Given the description of an element on the screen output the (x, y) to click on. 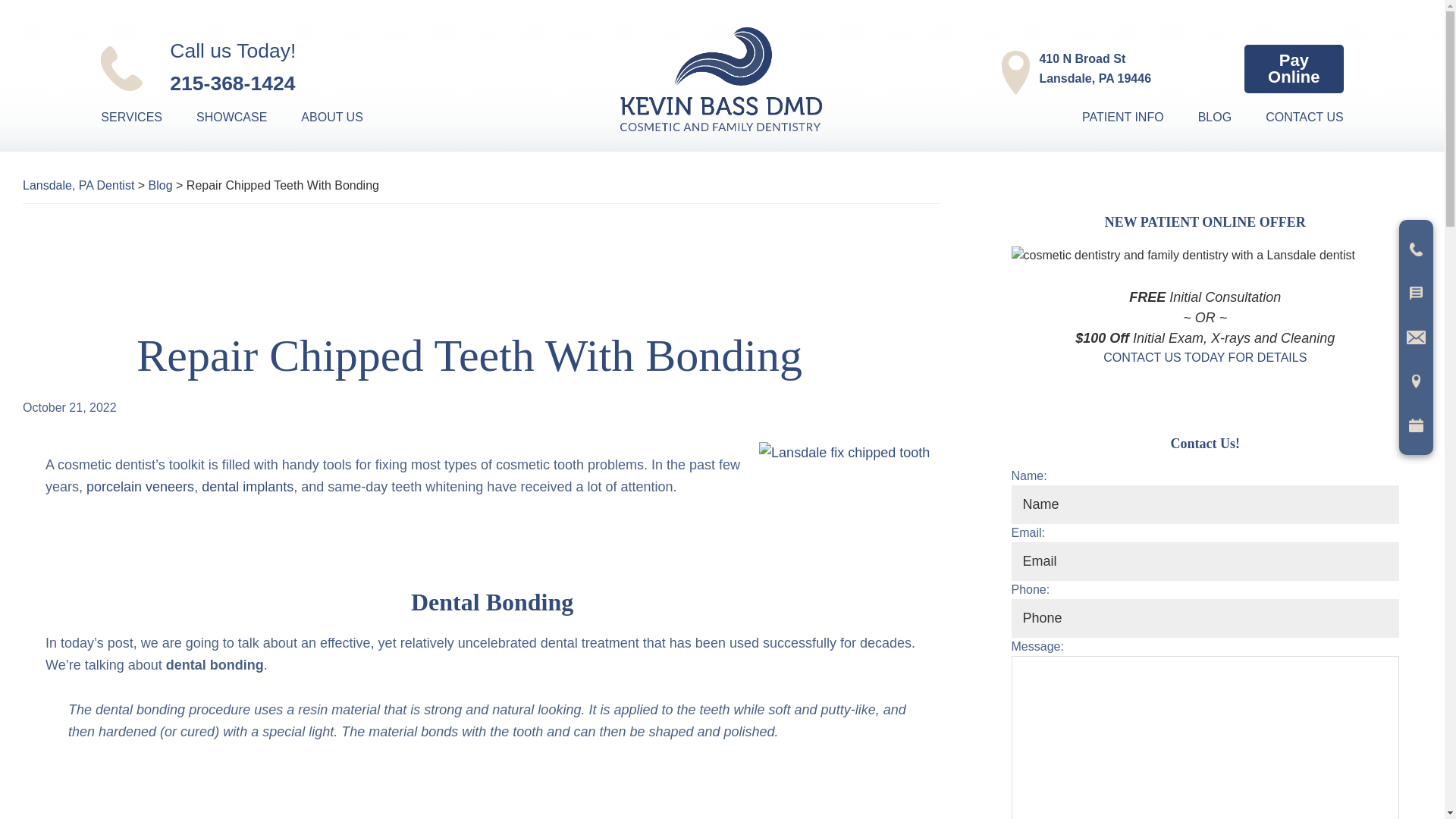
SERVICES (146, 117)
Pay Online (307, 67)
ABOUT US (1293, 69)
SHOWCASE (347, 117)
